Given the description of an element on the screen output the (x, y) to click on. 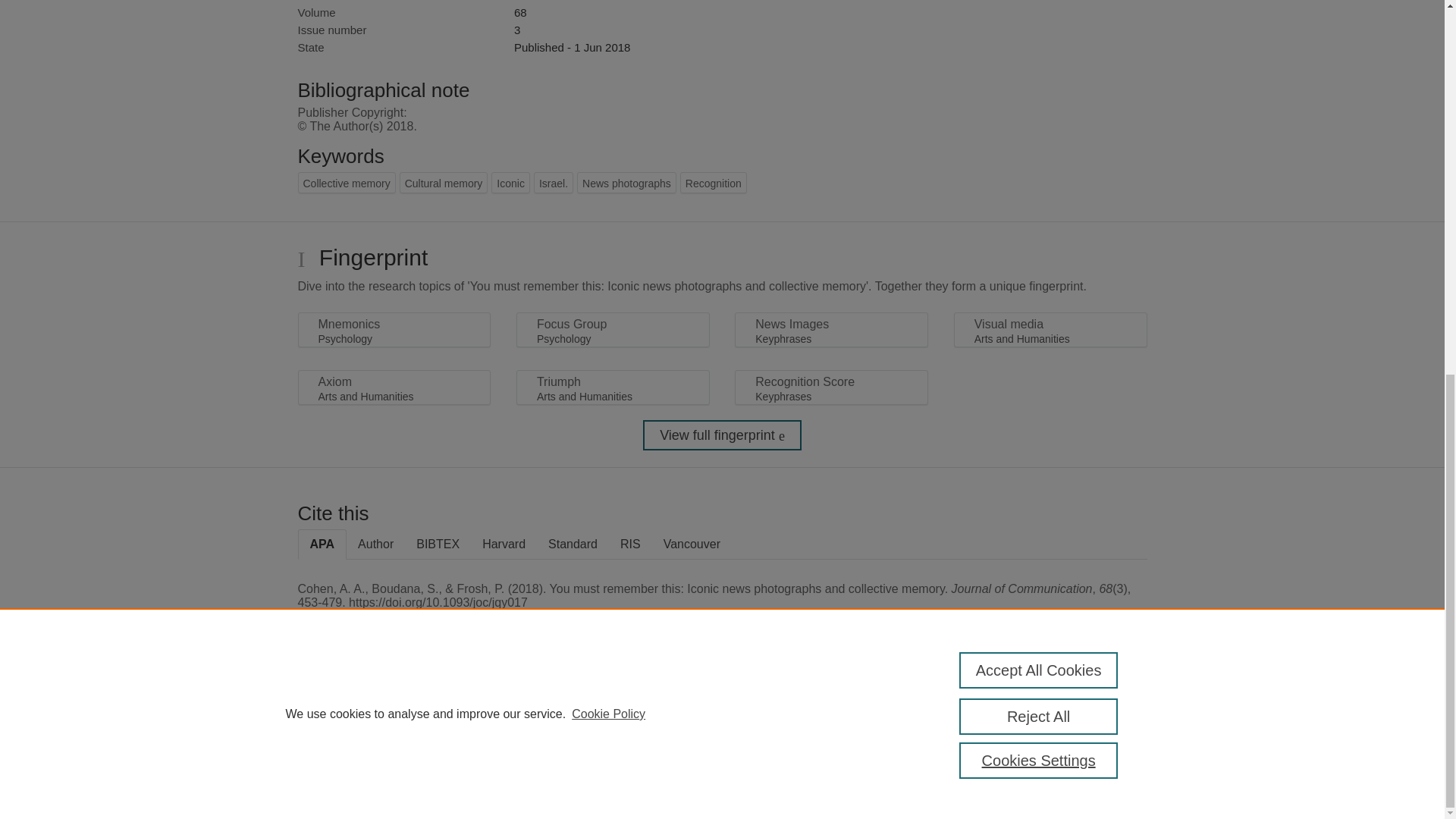
Cookies Settings (1038, 72)
Cookies Settings (334, 781)
About web accessibility (1088, 713)
Cookie Policy (608, 25)
Reject All (1038, 28)
View full fingerprint (722, 435)
Scopus (394, 708)
use of cookies (796, 760)
Report vulnerability (1088, 745)
Pure (362, 708)
Elsevier B.V. (506, 728)
Journal of Communication (579, 0)
